Given the description of an element on the screen output the (x, y) to click on. 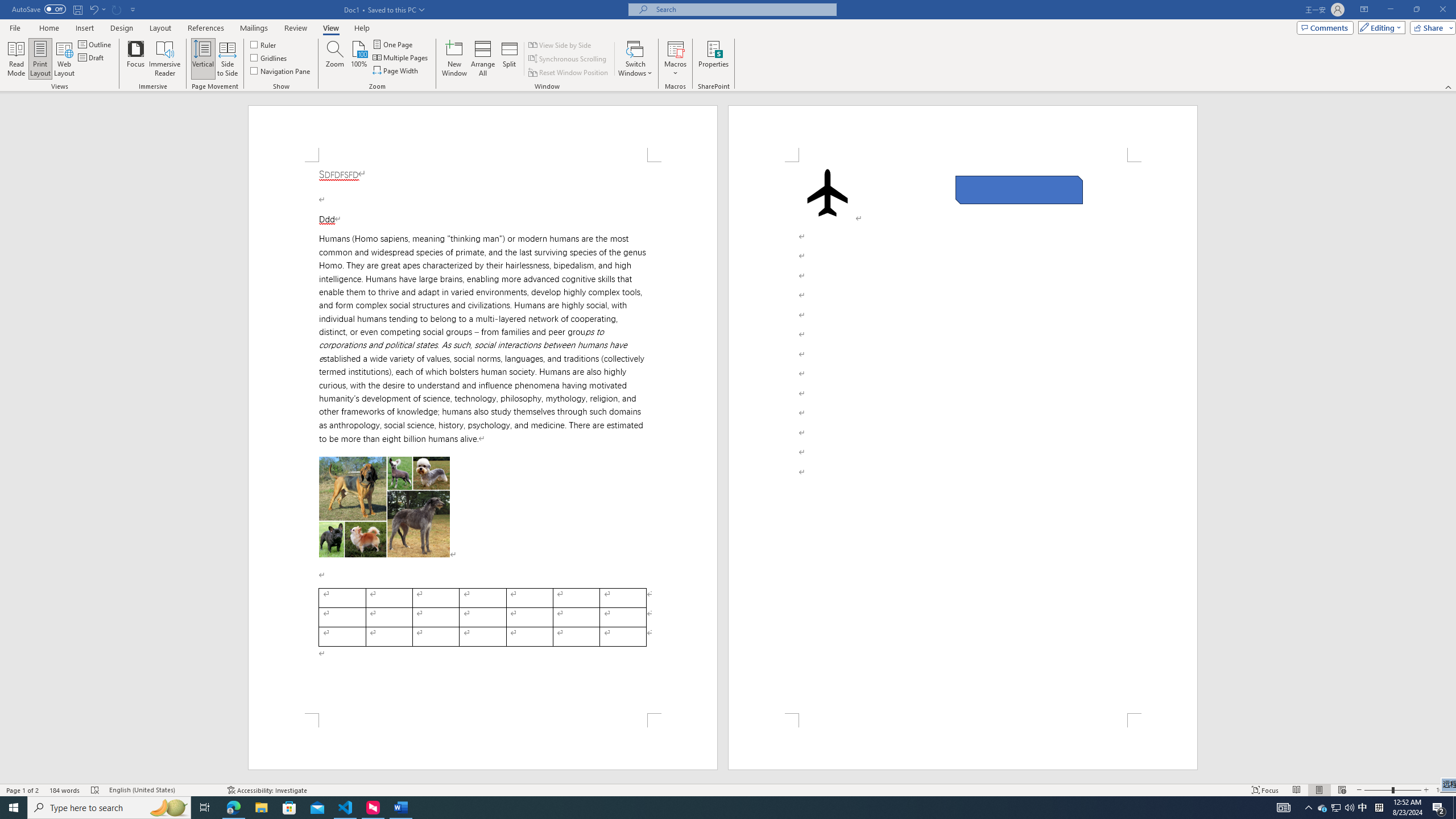
AutoSave (38, 9)
Multiple Pages (400, 56)
Arrange All (483, 58)
User Promoted Notification Area (1322, 807)
View Side by Side (1336, 807)
Can't Repeat (561, 44)
File Tab (117, 9)
Type here to search (15, 27)
Focus (108, 807)
Collapse the Ribbon (135, 58)
Tray Input Indicator - Chinese (Simplified, China) (1448, 86)
Undo Apply Quick Style Set (1378, 807)
Page Width (96, 9)
